Given the description of an element on the screen output the (x, y) to click on. 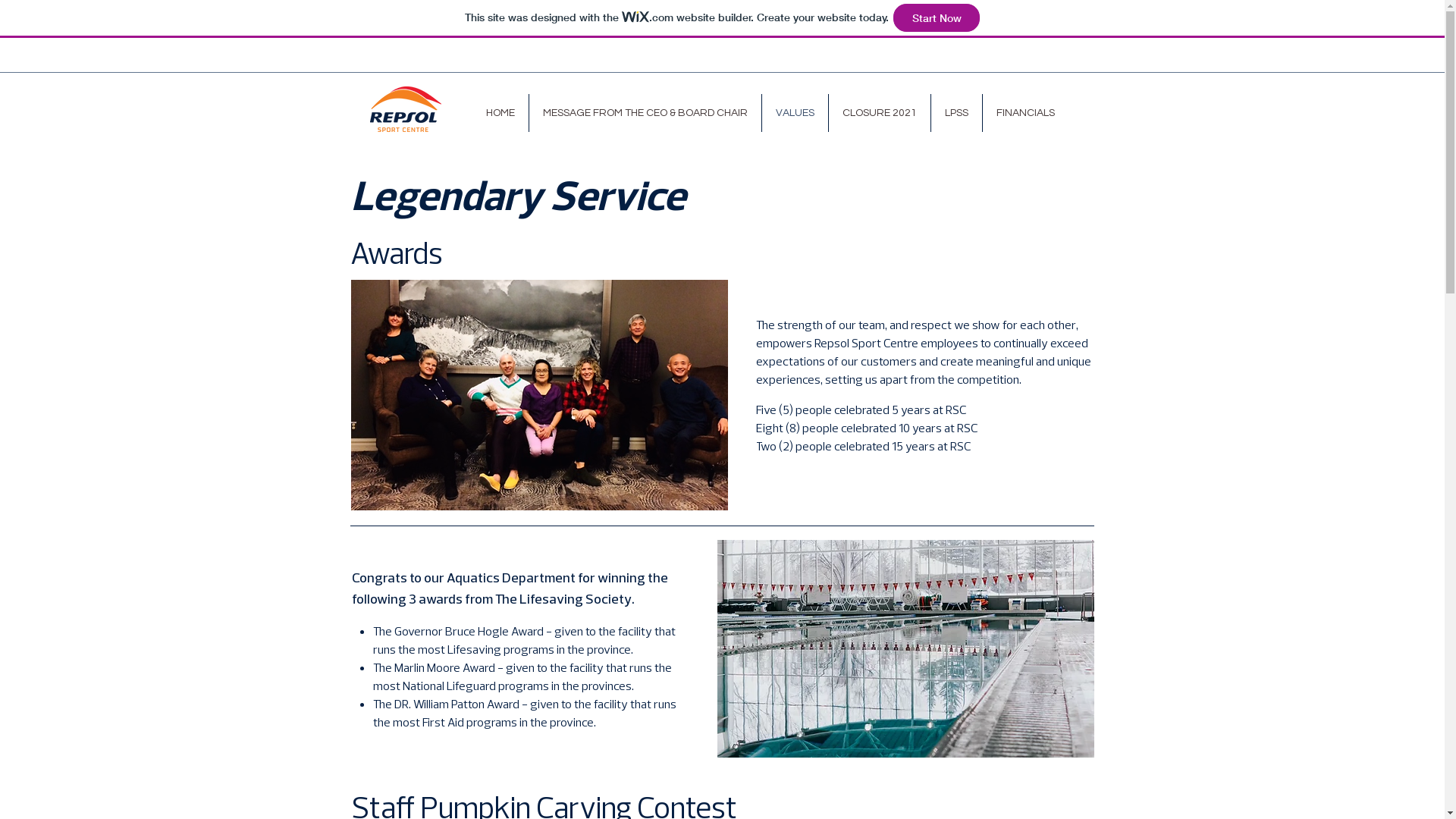
FINANCIALS Element type: text (1025, 112)
CLOSURE 2021 Element type: text (878, 112)
LPSS Element type: text (956, 112)
MESSAGE FROM THE CEO & BOARD CHAIR Element type: text (645, 112)
VALUES Element type: text (794, 112)
HOME Element type: text (499, 112)
